Given the description of an element on the screen output the (x, y) to click on. 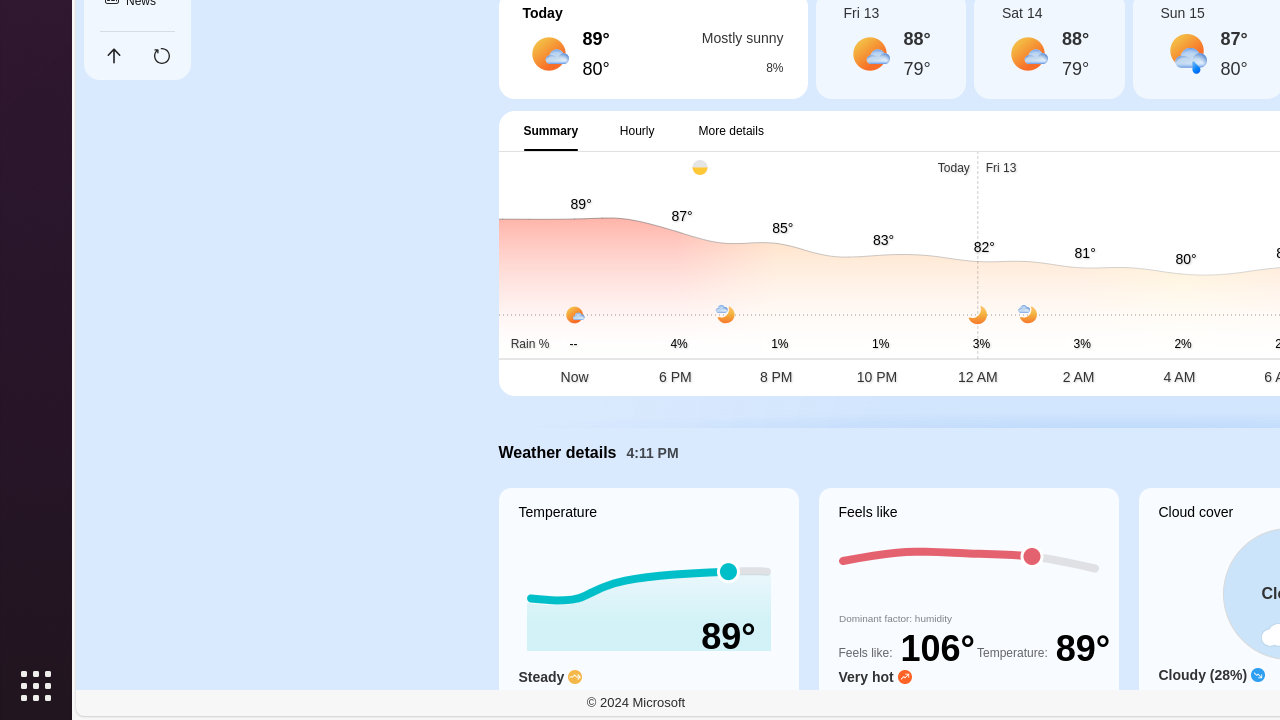
Show Applications Element type: toggle-button (36, 686)
Refresh this page Element type: push-button (161, 56)
Hourly Element type: page-tab (637, 131)
More details Element type: page-tab (731, 131)
Back to top Element type: push-button (113, 56)
